Given the description of an element on the screen output the (x, y) to click on. 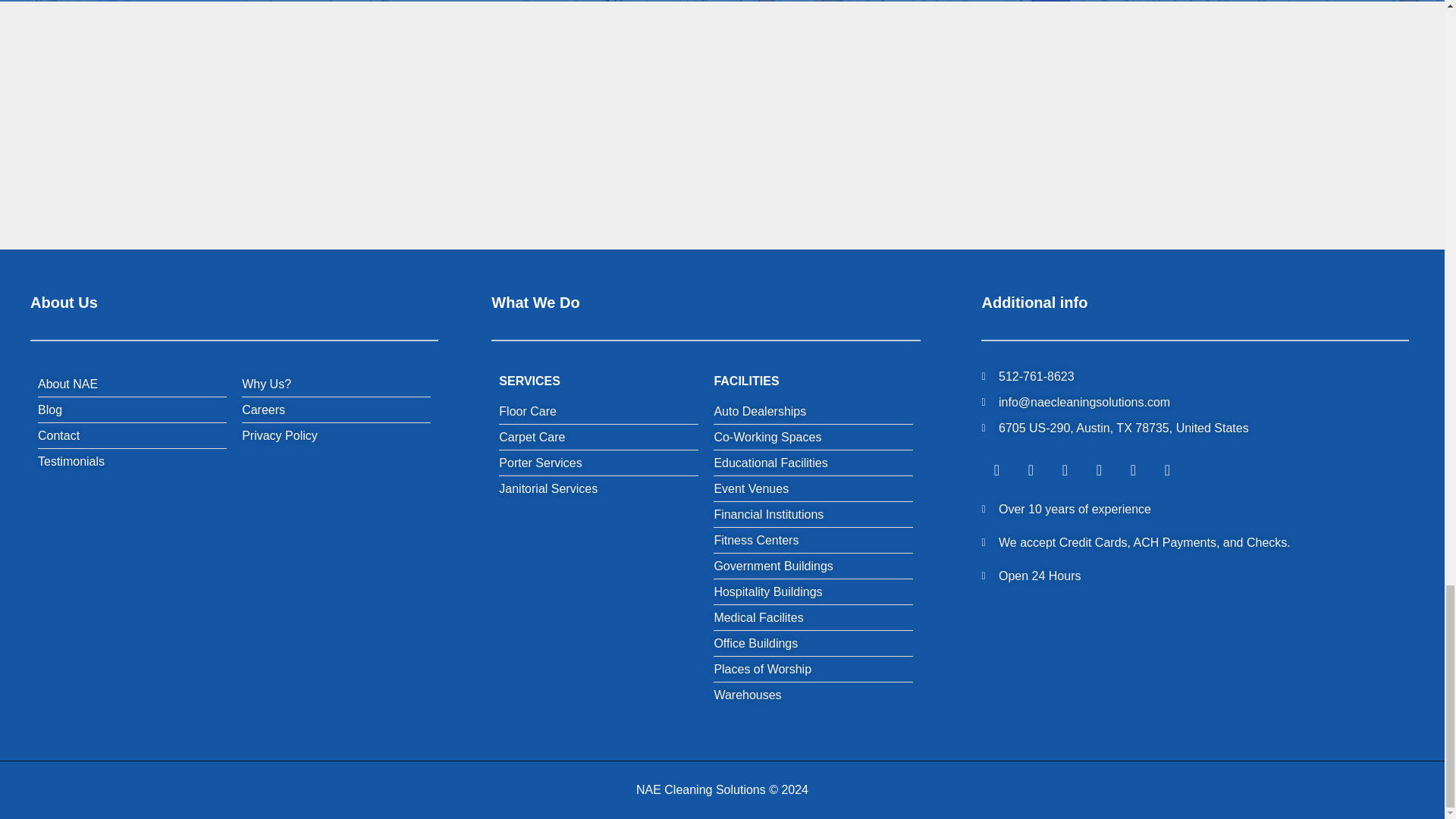
Careers (263, 410)
Why Us? (266, 384)
About NAE (67, 384)
Privacy Policy (279, 435)
Contact (58, 435)
Testimonials (70, 461)
Blog (49, 410)
